Given the description of an element on the screen output the (x, y) to click on. 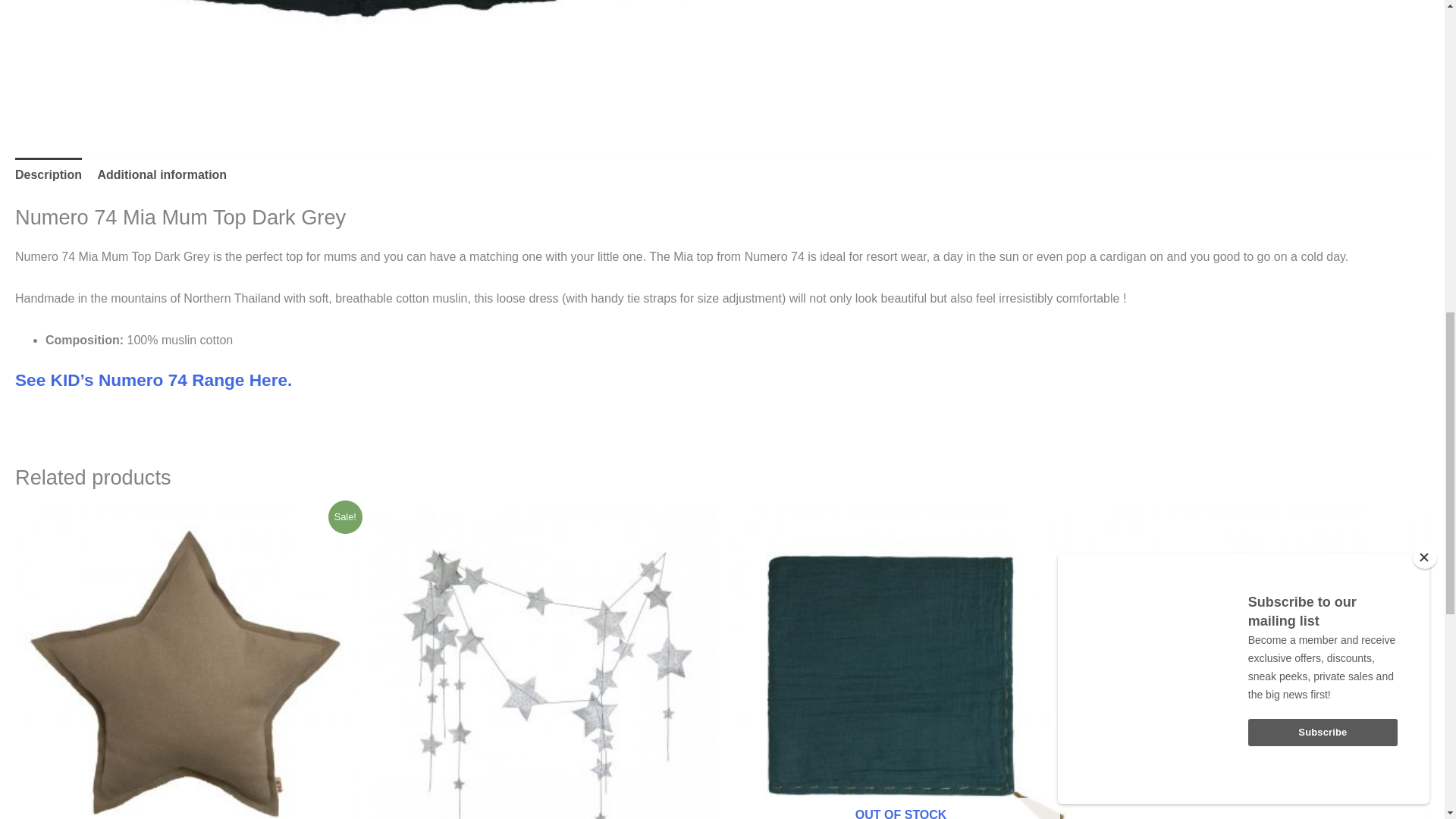
Numero 74 Mia Mum Top Dark Grey (368, 54)
